Given the description of an element on the screen output the (x, y) to click on. 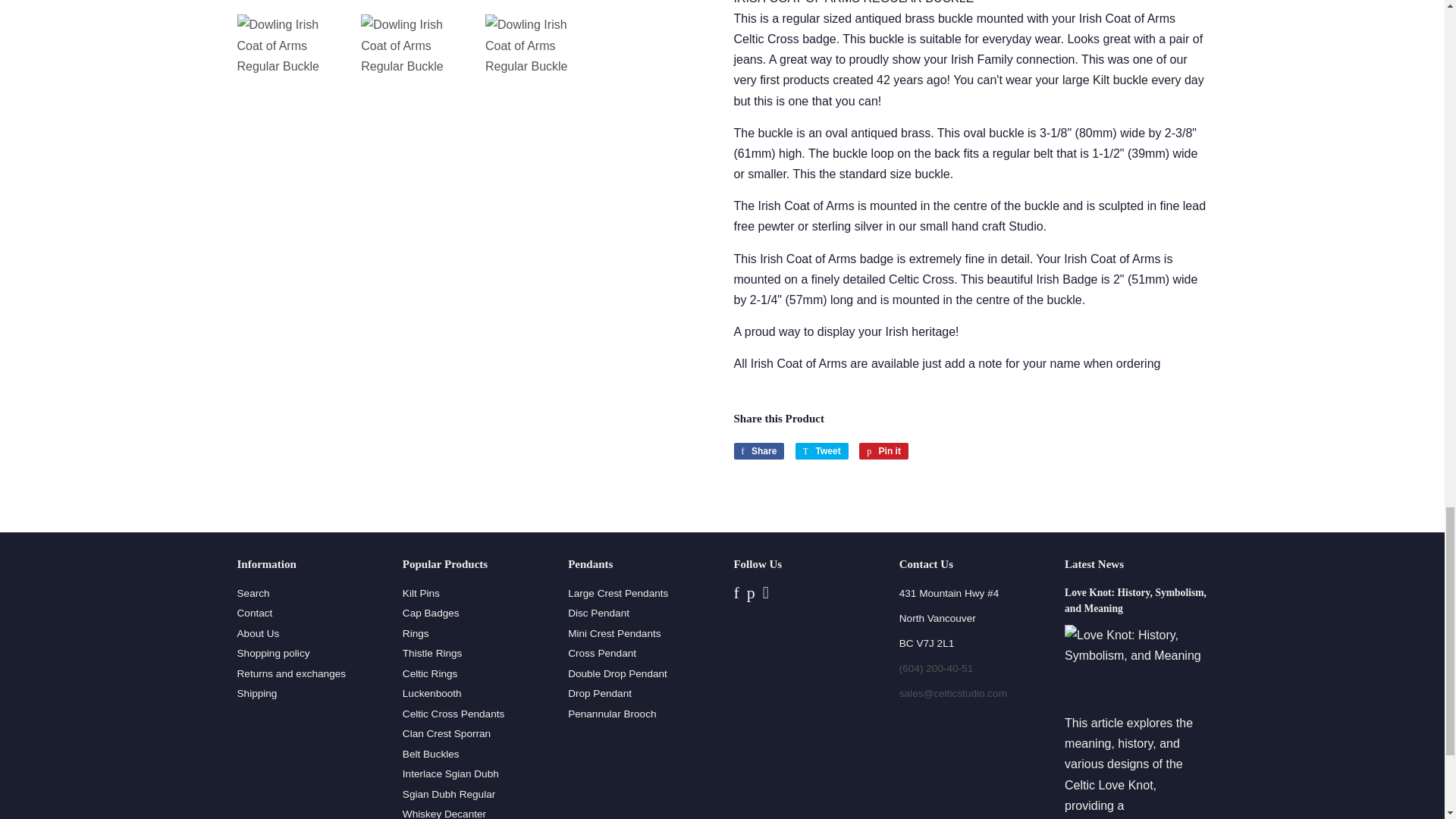
Tweet on Twitter (821, 451)
Pin on Pinterest (883, 451)
mail (953, 693)
Phone number (936, 668)
Share on Facebook (758, 451)
